Given the description of an element on the screen output the (x, y) to click on. 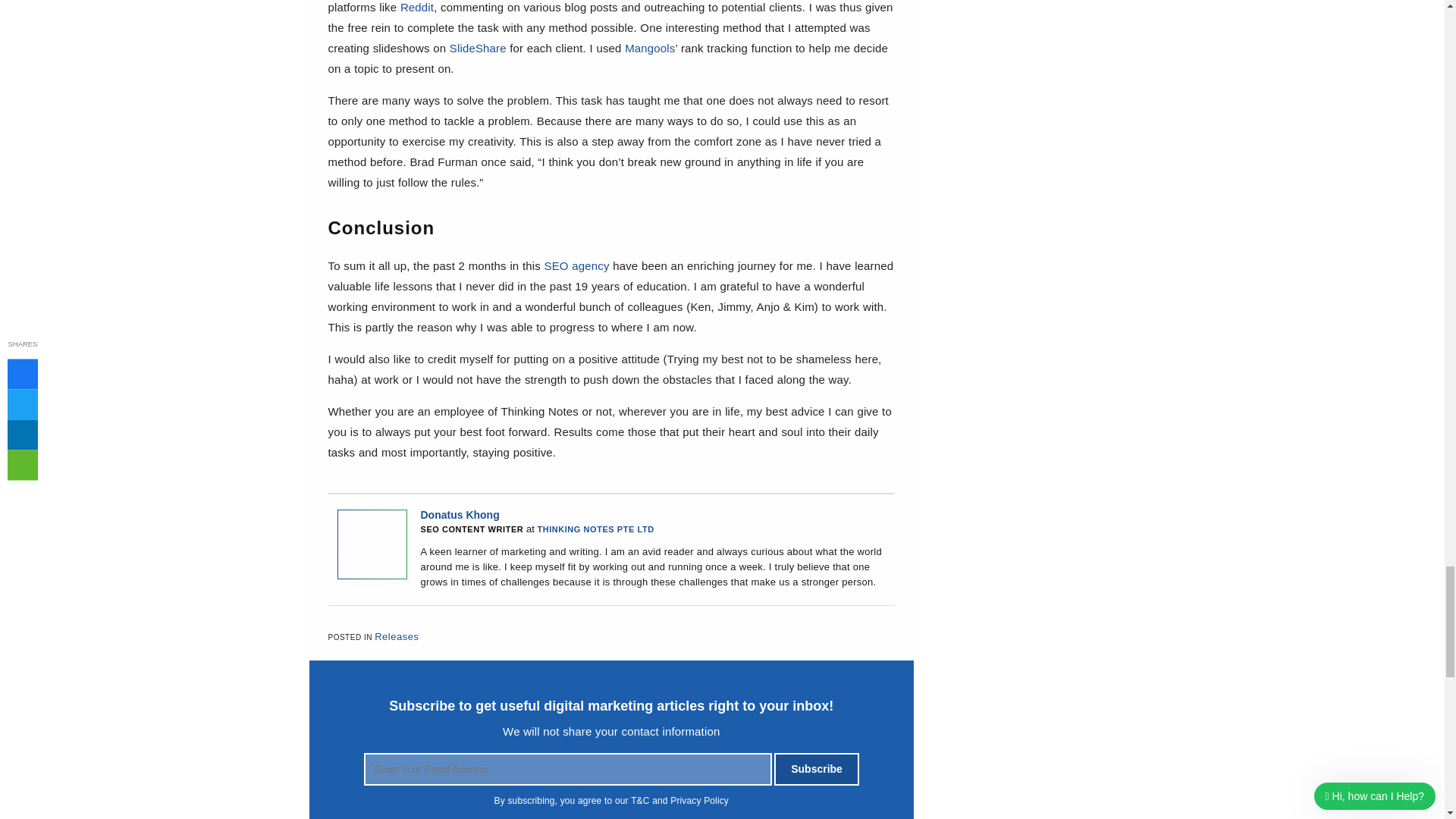
Donatus Khong (371, 575)
